Given the description of an element on the screen output the (x, y) to click on. 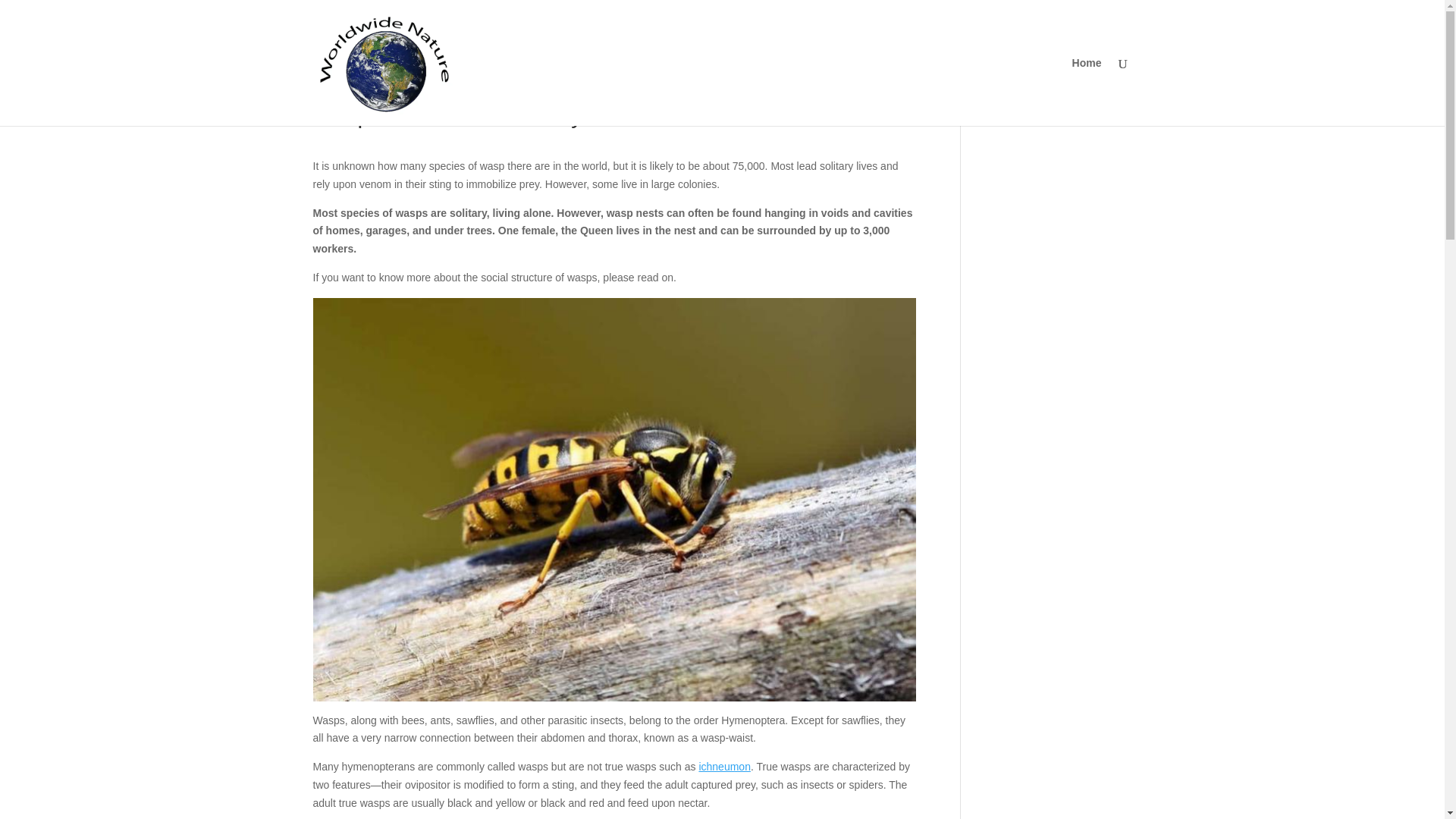
ichneumon (724, 766)
